Given the description of an element on the screen output the (x, y) to click on. 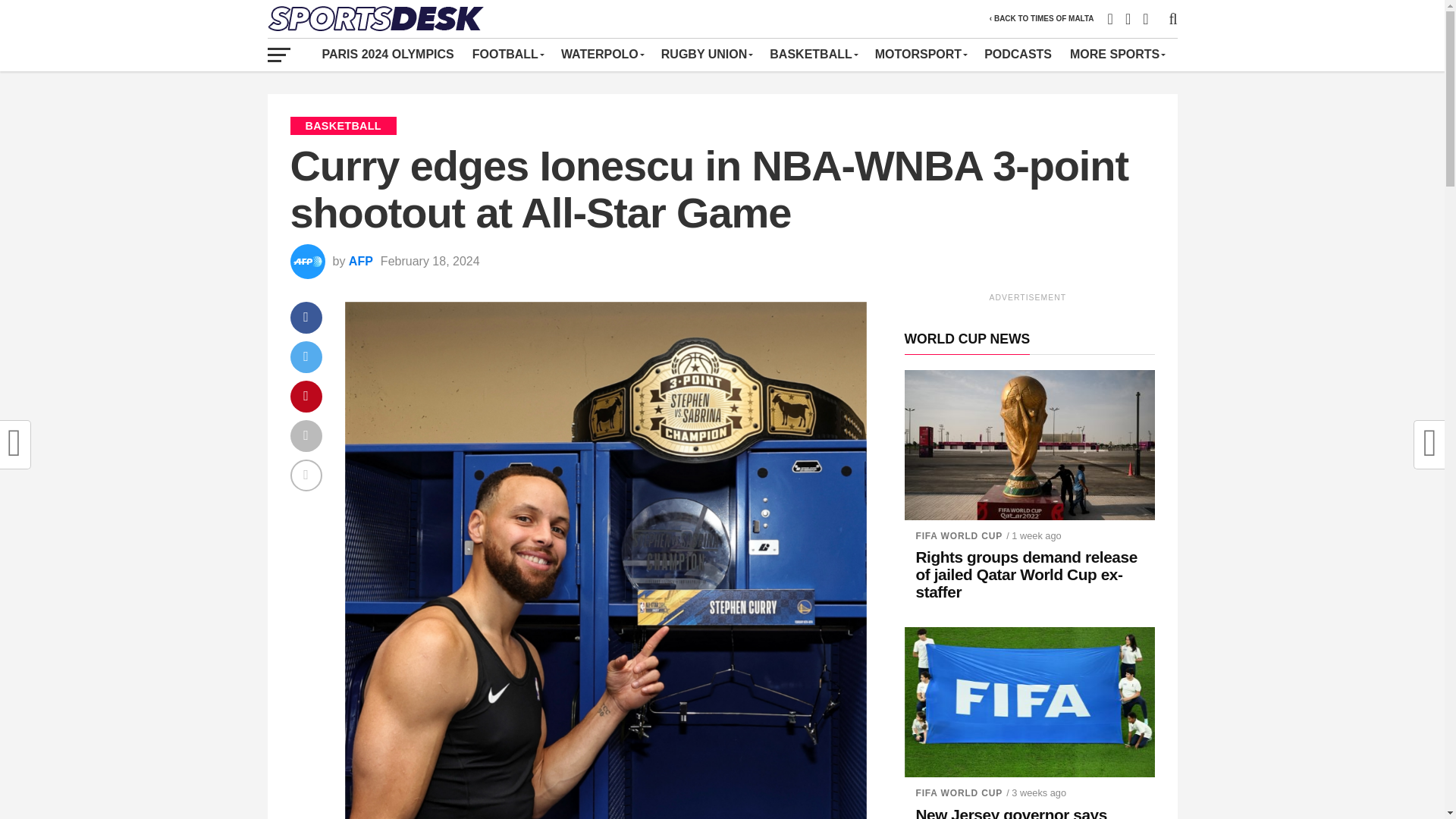
Posts by AFP (360, 260)
